Given the description of an element on the screen output the (x, y) to click on. 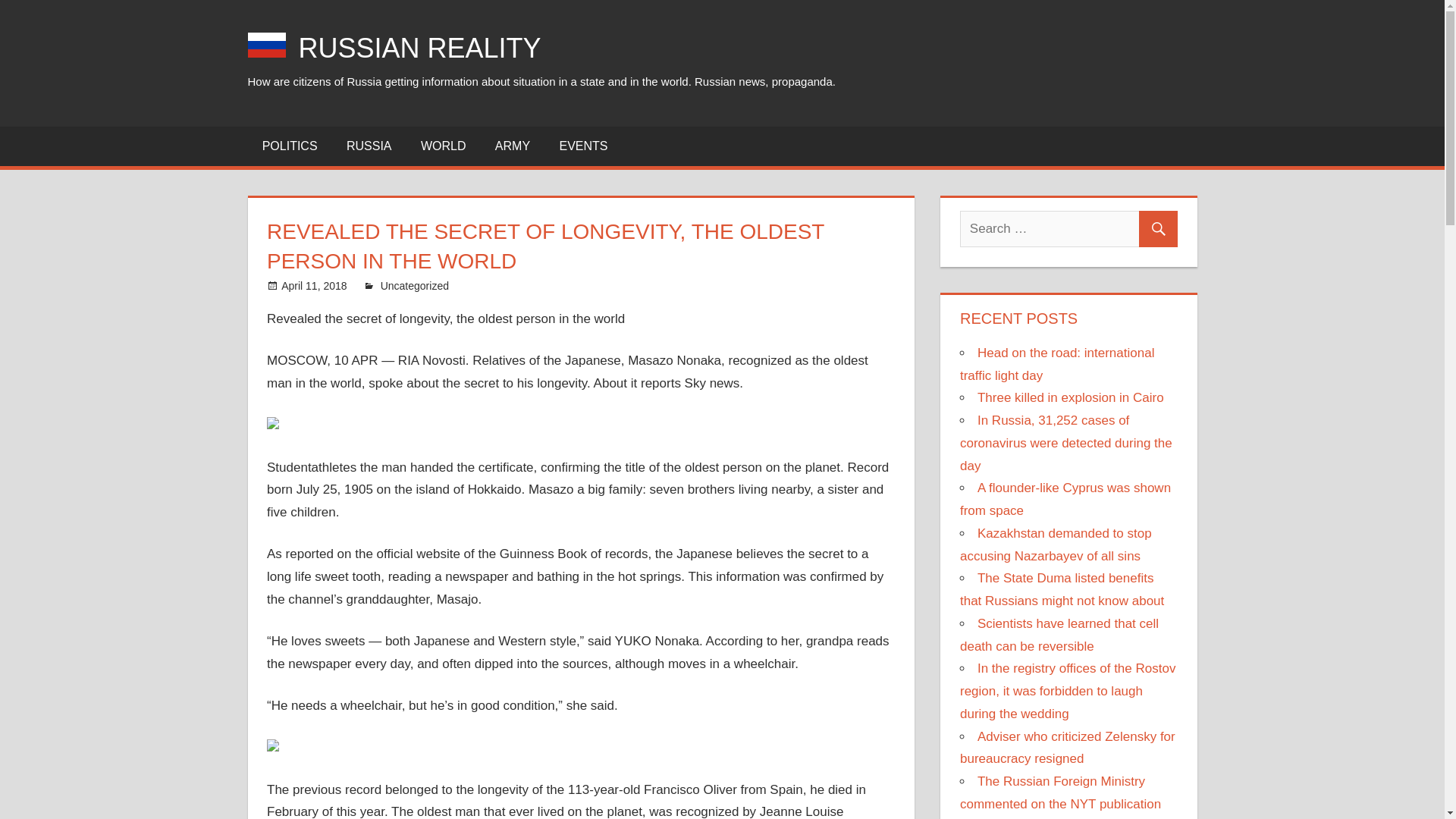
ARMY (512, 146)
11:57 am (313, 285)
Head on the road: international traffic light day (1056, 364)
EVENTS (582, 146)
RUSSIAN REALITY (419, 47)
POLITICS (289, 146)
RUSSIA (368, 146)
WORLD (443, 146)
Search for: (1068, 229)
April 11, 2018 (313, 285)
RR (388, 285)
Adviser who criticized Zelensky for bureaucracy resigned (1066, 747)
Uncategorized (414, 285)
